Given the description of an element on the screen output the (x, y) to click on. 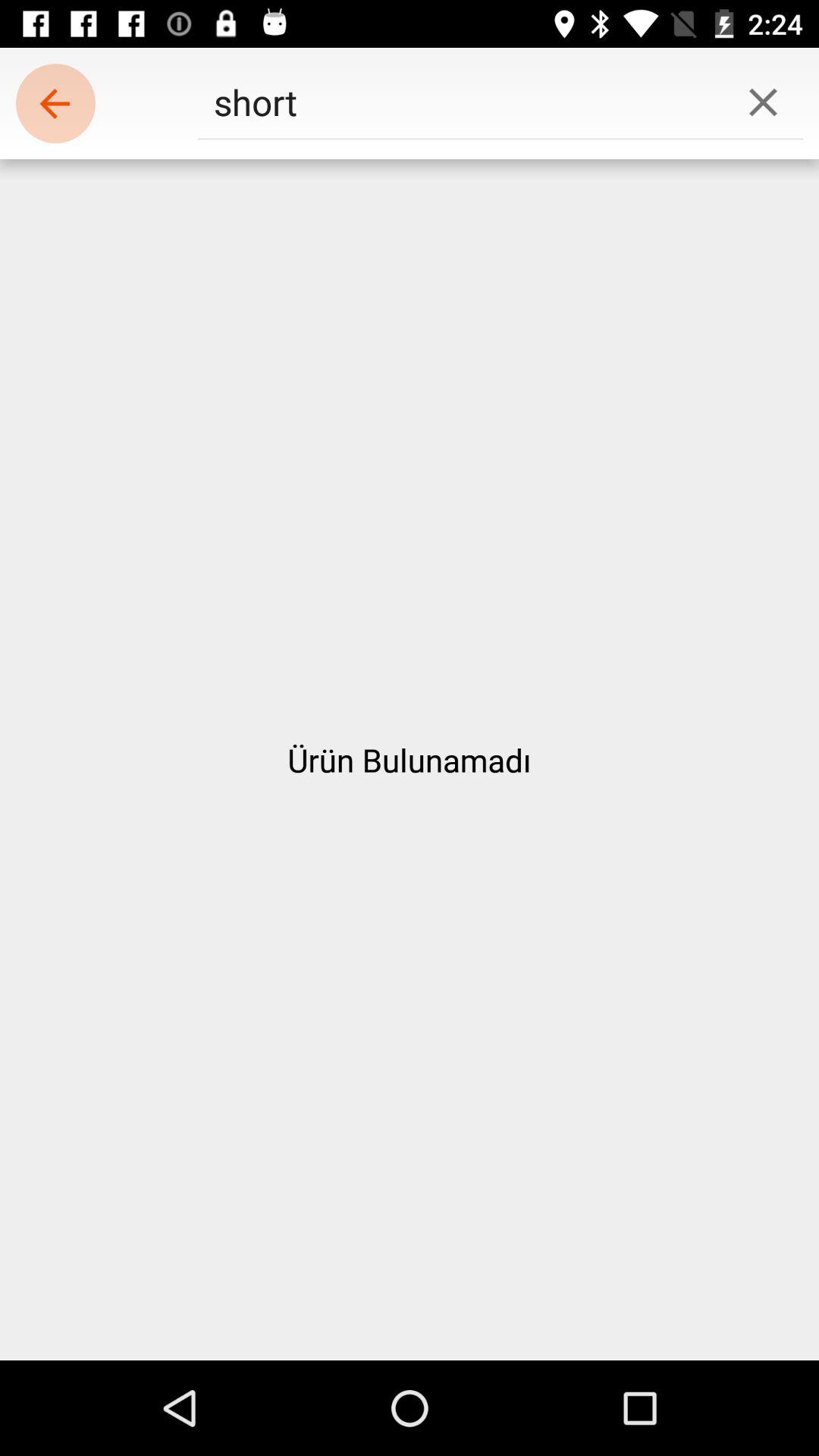
open icon to the right of short (763, 102)
